Given the description of an element on the screen output the (x, y) to click on. 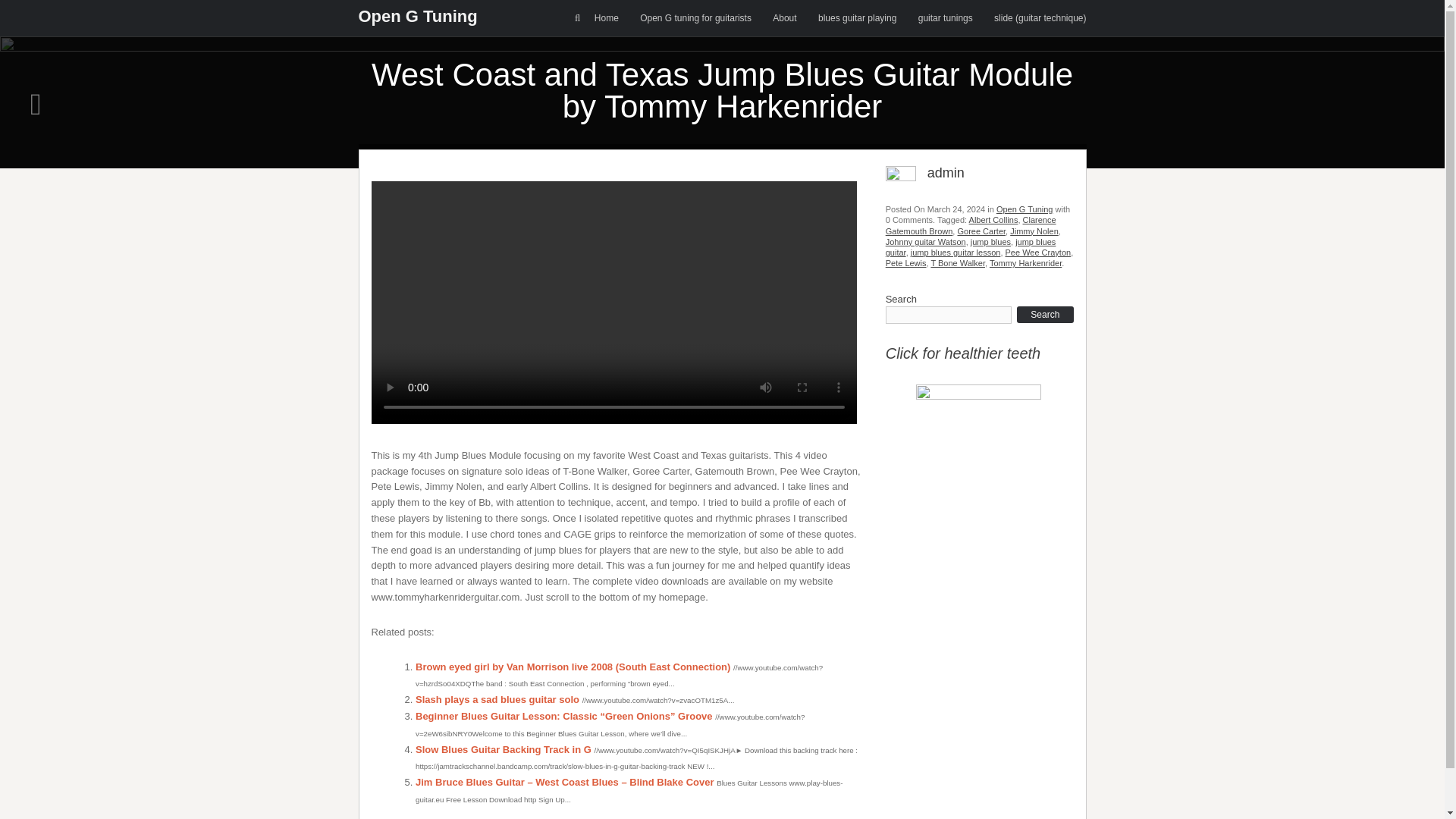
Jimmy Nolen (1034, 230)
Pete Lewis (905, 262)
Slow Blues Guitar Backing Track in G (502, 749)
Open G Tuning (417, 15)
T Bone Walker (957, 262)
Clarence Gatemouth Brown (971, 225)
Johnny guitar Watson (925, 241)
jump blues guitar lesson (956, 252)
Skip to content (594, 7)
Home (606, 18)
Open G Tuning (417, 15)
Pee Wee Crayton (1038, 252)
Open G tuning for guitarists (695, 18)
jump blues guitar (971, 247)
jump blues (990, 241)
